Given the description of an element on the screen output the (x, y) to click on. 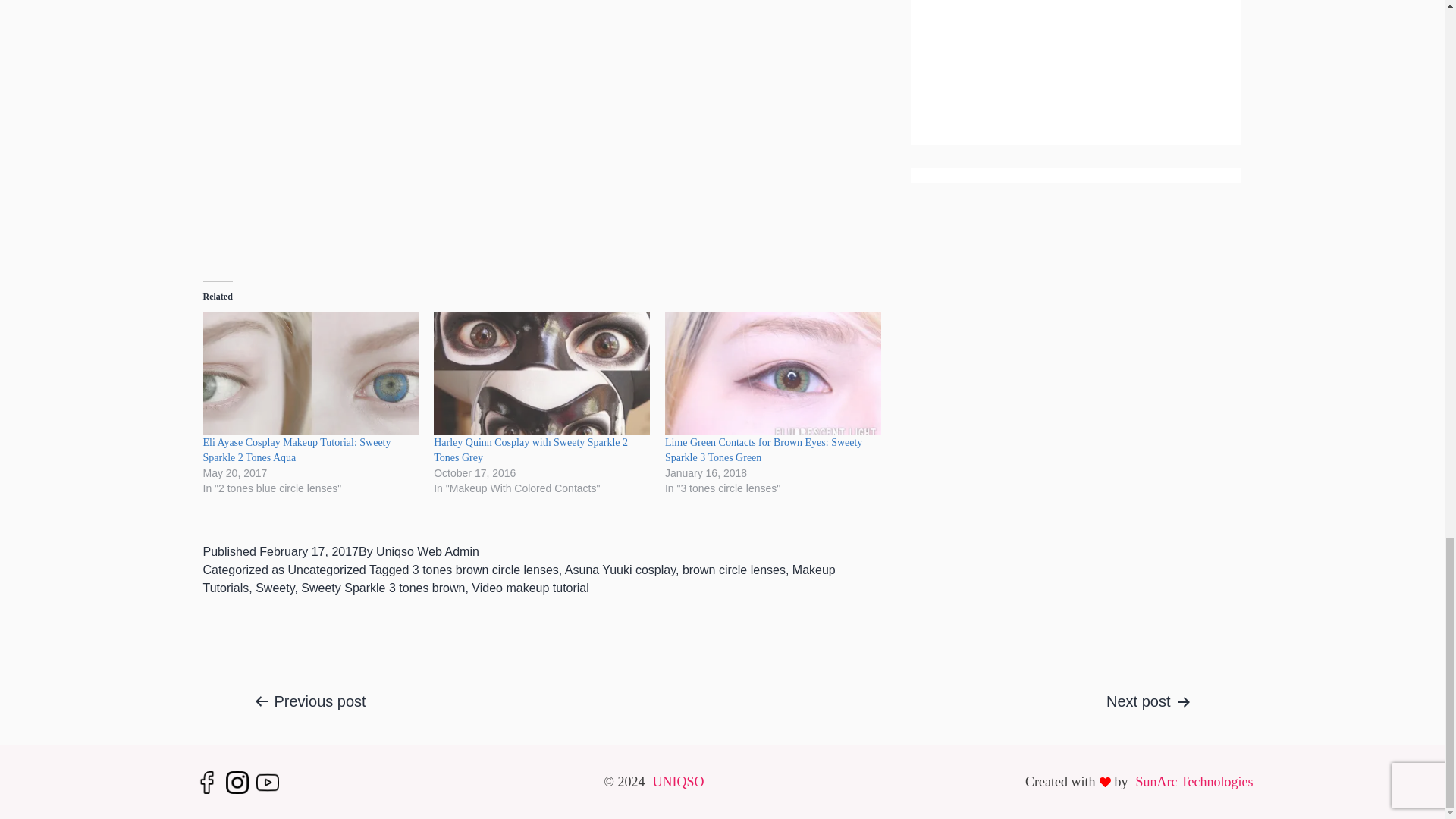
Harley Quinn Cosplay with Sweety Sparkle 2 Tones Grey (530, 449)
Harley Quinn Cosplay with Sweety Sparkle 2 Tones Grey (530, 449)
Uncategorized (327, 569)
Harley Quinn Cosplay with Sweety Sparkle 2 Tones Grey (541, 373)
Asuna Yuuki cosplay (619, 569)
Uniqso Web Admin (427, 551)
